Given the description of an element on the screen output the (x, y) to click on. 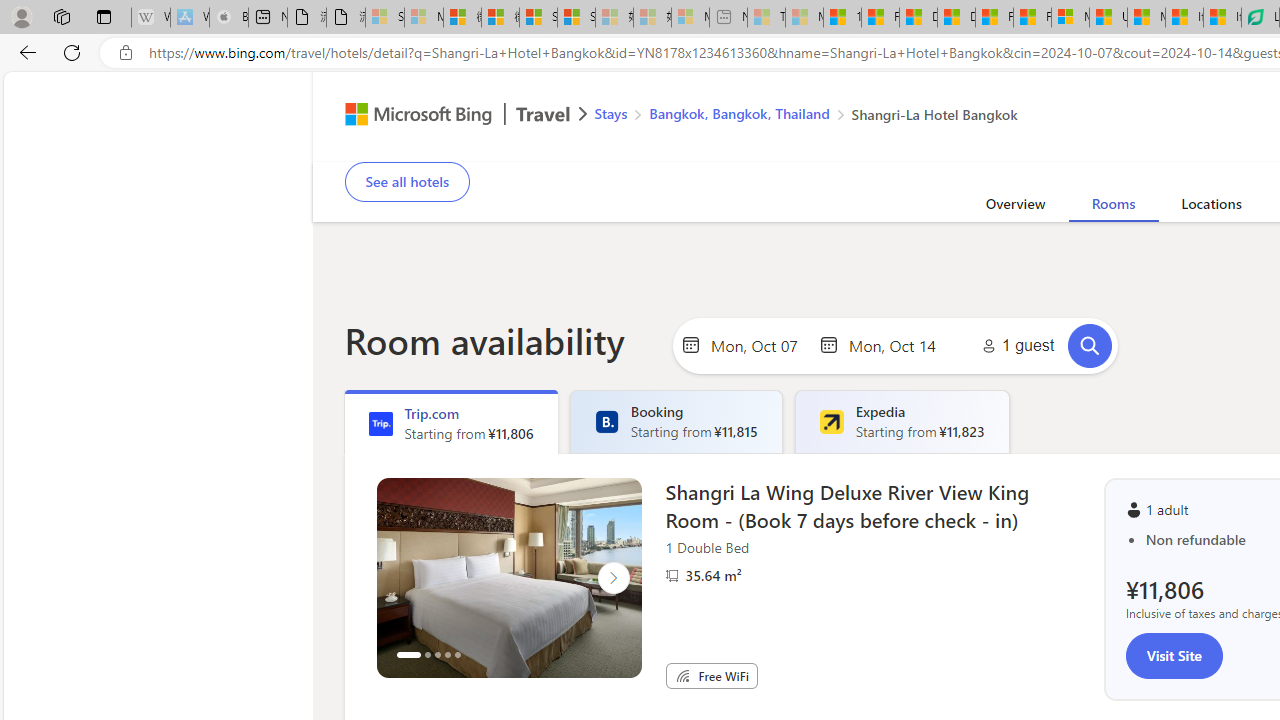
Stays (610, 112)
Food and Drink - MSN (879, 17)
Sign in to your Microsoft account - Sleeping (385, 17)
Expedia (831, 421)
